Given the description of an element on the screen output the (x, y) to click on. 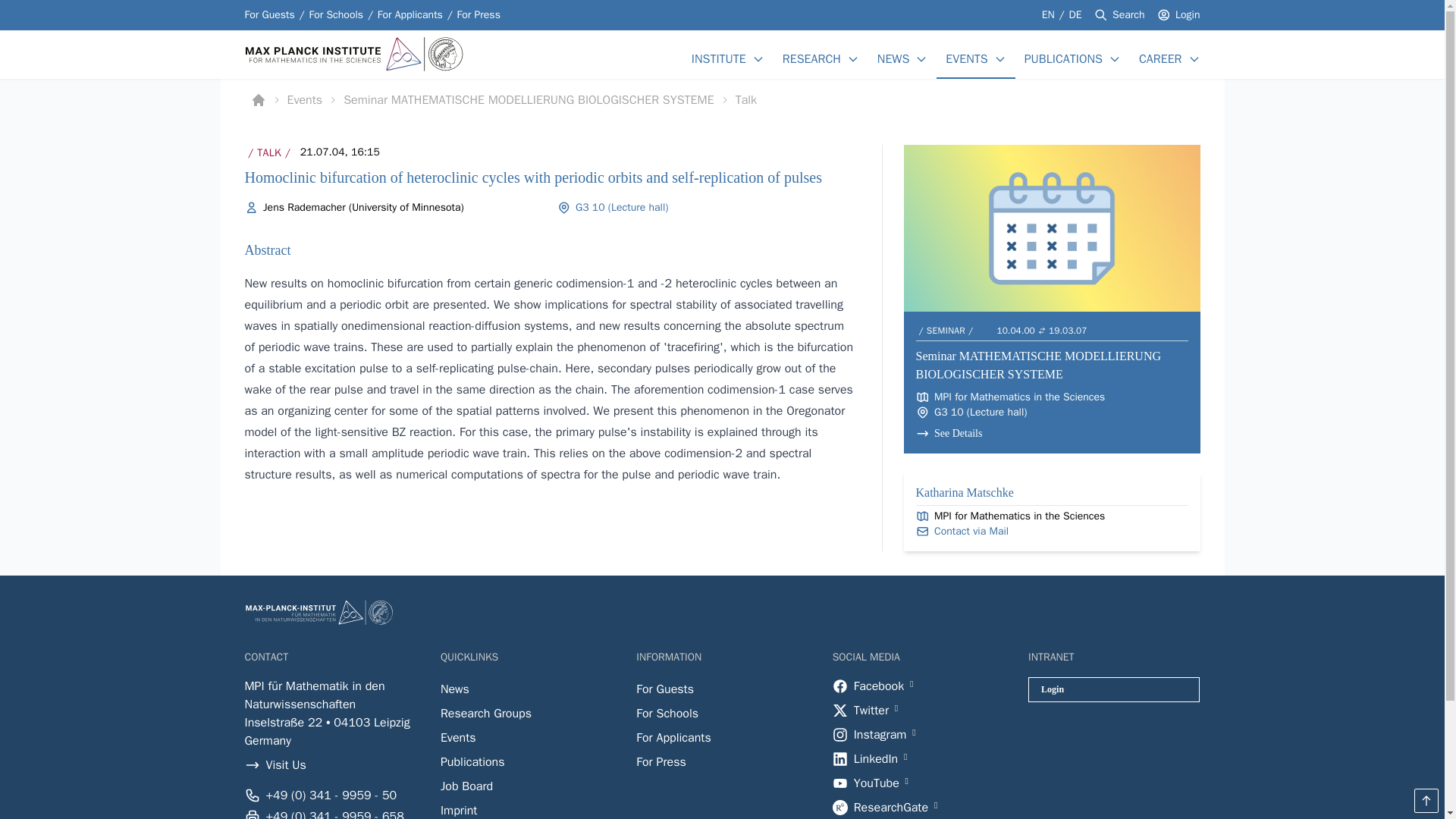
For Guests (269, 14)
RESEARCH (812, 58)
For Press (478, 14)
EVENTS (965, 58)
For Schools (335, 14)
EN (1050, 14)
German (1074, 14)
For Applicants (409, 14)
For Schools (335, 14)
DE (1074, 14)
